Given the description of an element on the screen output the (x, y) to click on. 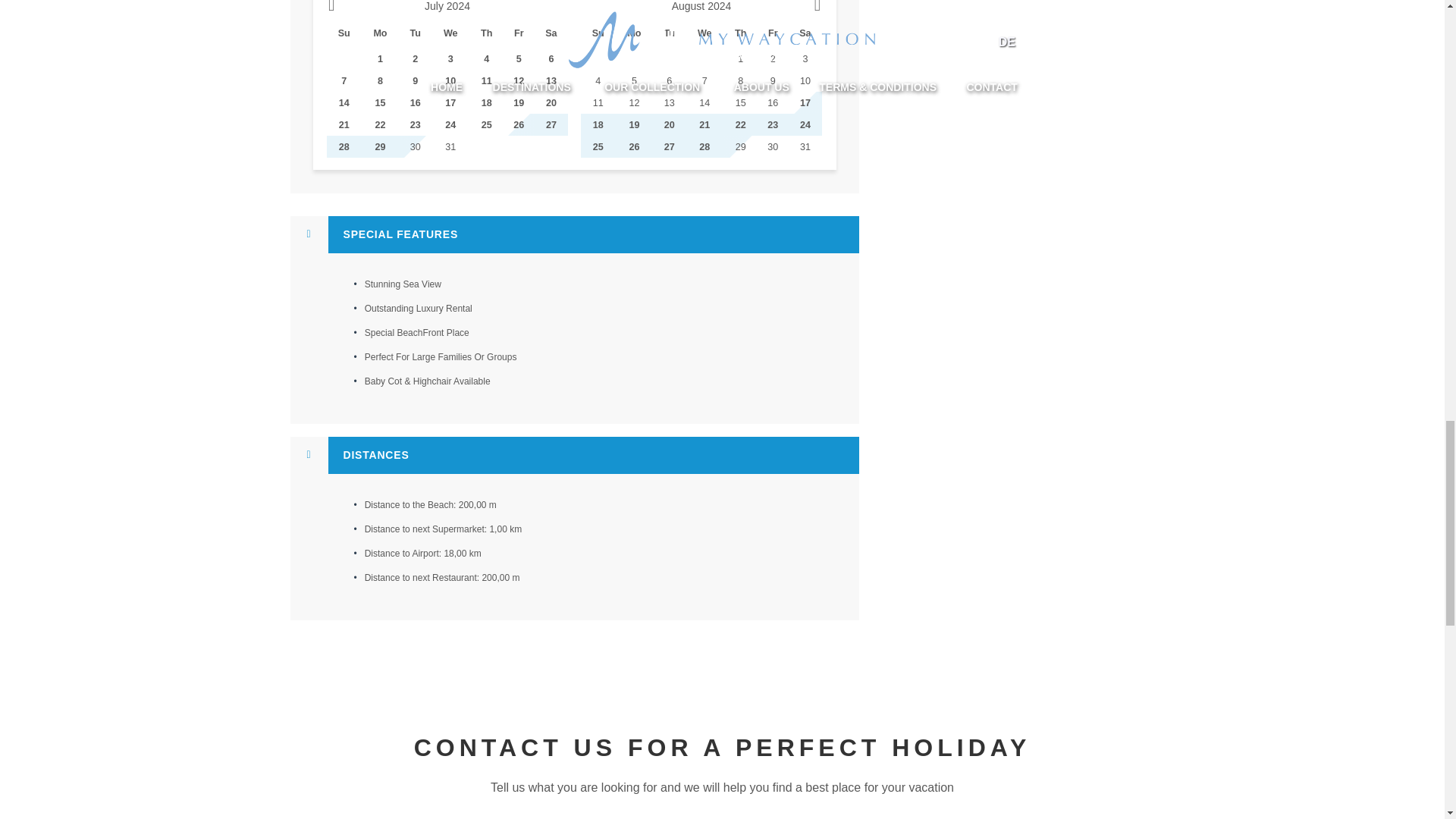
10 (805, 80)
4 (597, 80)
Saturday (804, 32)
Saturday (550, 32)
3 (805, 58)
5 (633, 80)
2 (772, 58)
9 (772, 80)
Friday (772, 32)
Sunday (598, 32)
Wednesday (451, 32)
11 (597, 102)
15 (741, 102)
30 (772, 146)
7 (704, 80)
